Given the description of an element on the screen output the (x, y) to click on. 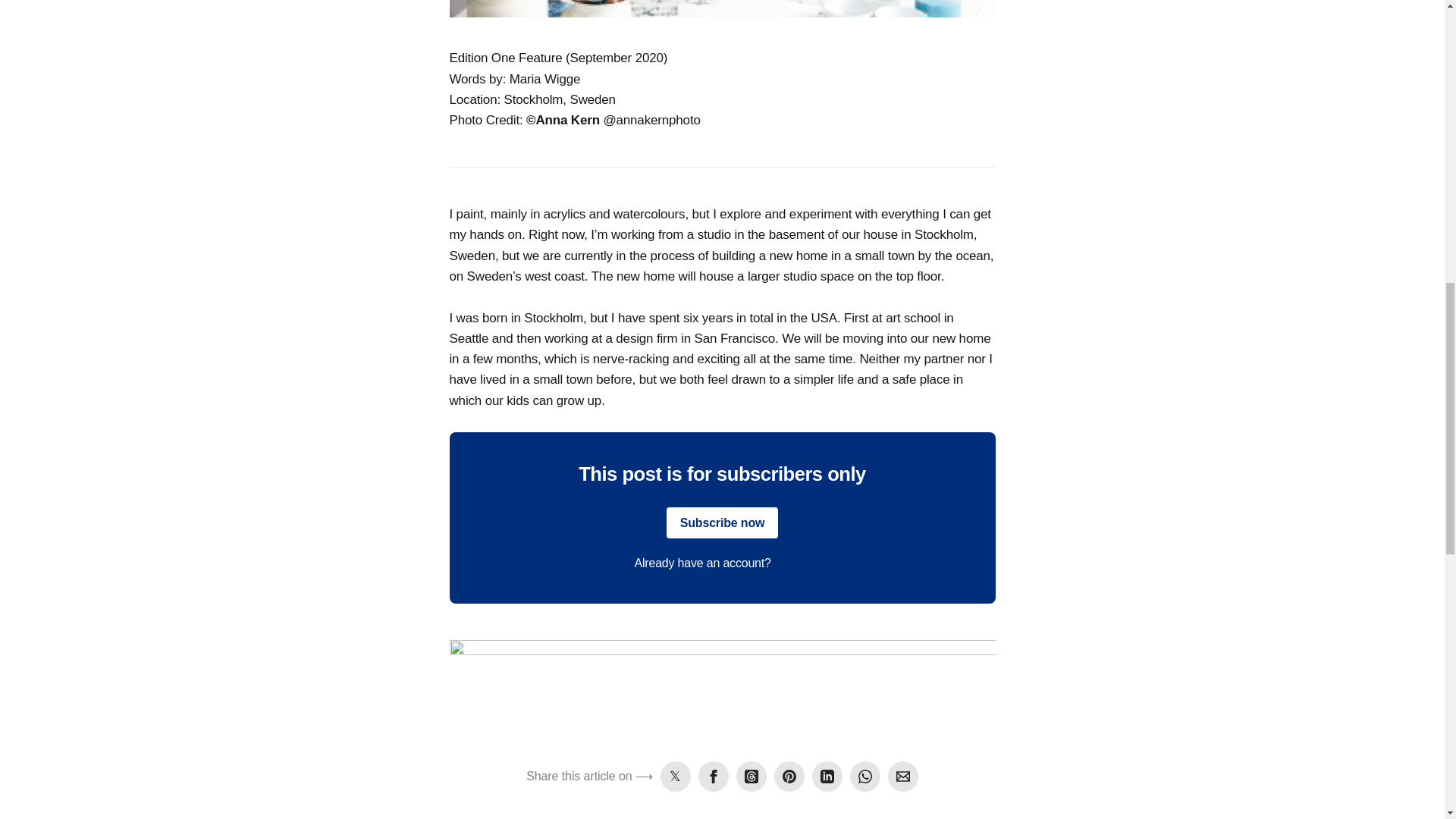
Share on Facebook (713, 776)
Share on LinkedIn (827, 776)
Subscribe now (722, 522)
Share on Pinterest (789, 776)
Sign in (792, 562)
Share on threads (751, 776)
Share on WhatsApp (865, 776)
Share via Email (903, 776)
